Given the description of an element on the screen output the (x, y) to click on. 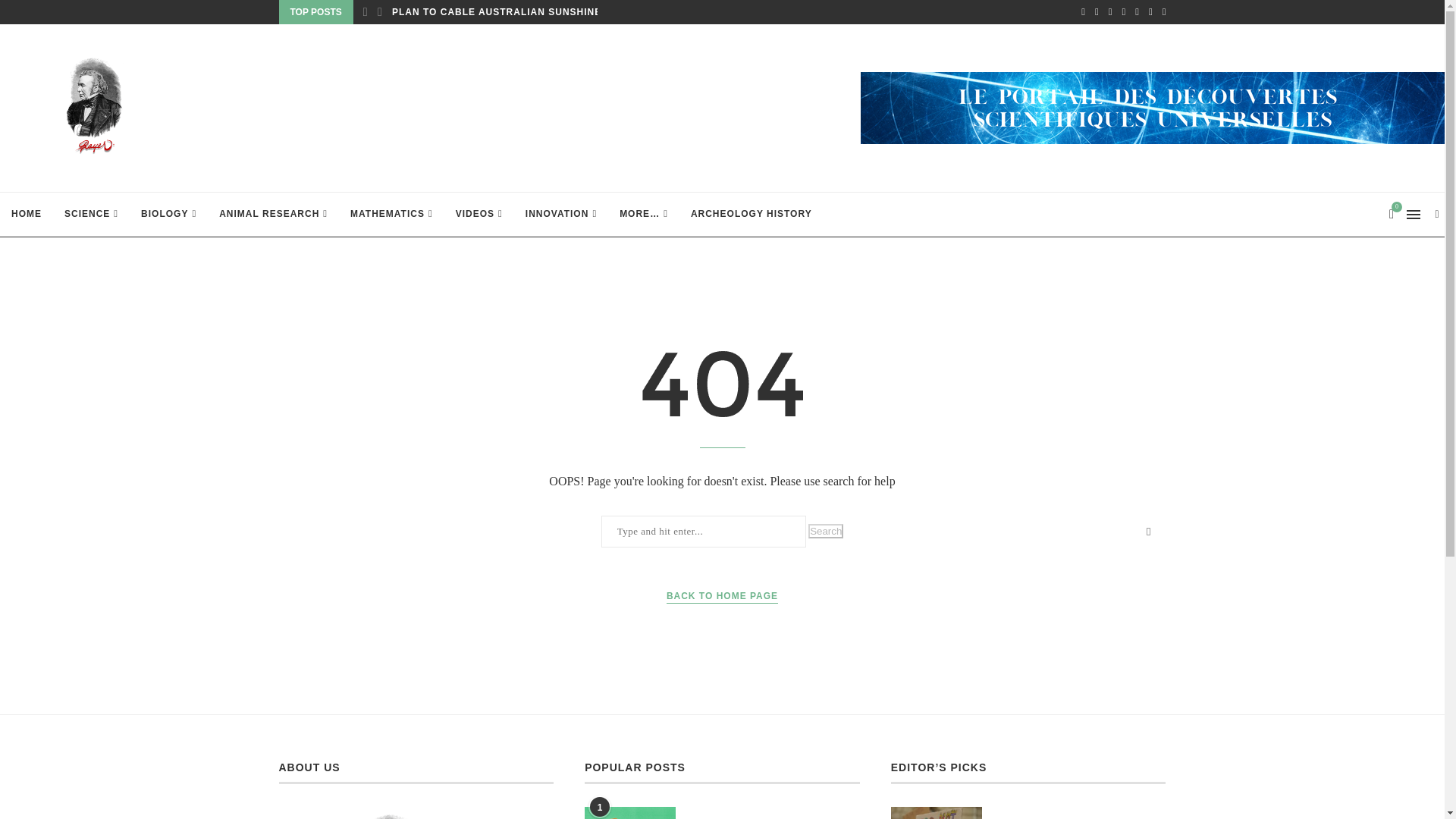
Search (825, 531)
Search (825, 531)
SCIENCE (90, 214)
PLAN TO CABLE AUSTRALIAN SUNSHINE TO SINGAPORE GETS... (557, 12)
HOME (26, 214)
